Given the description of an element on the screen output the (x, y) to click on. 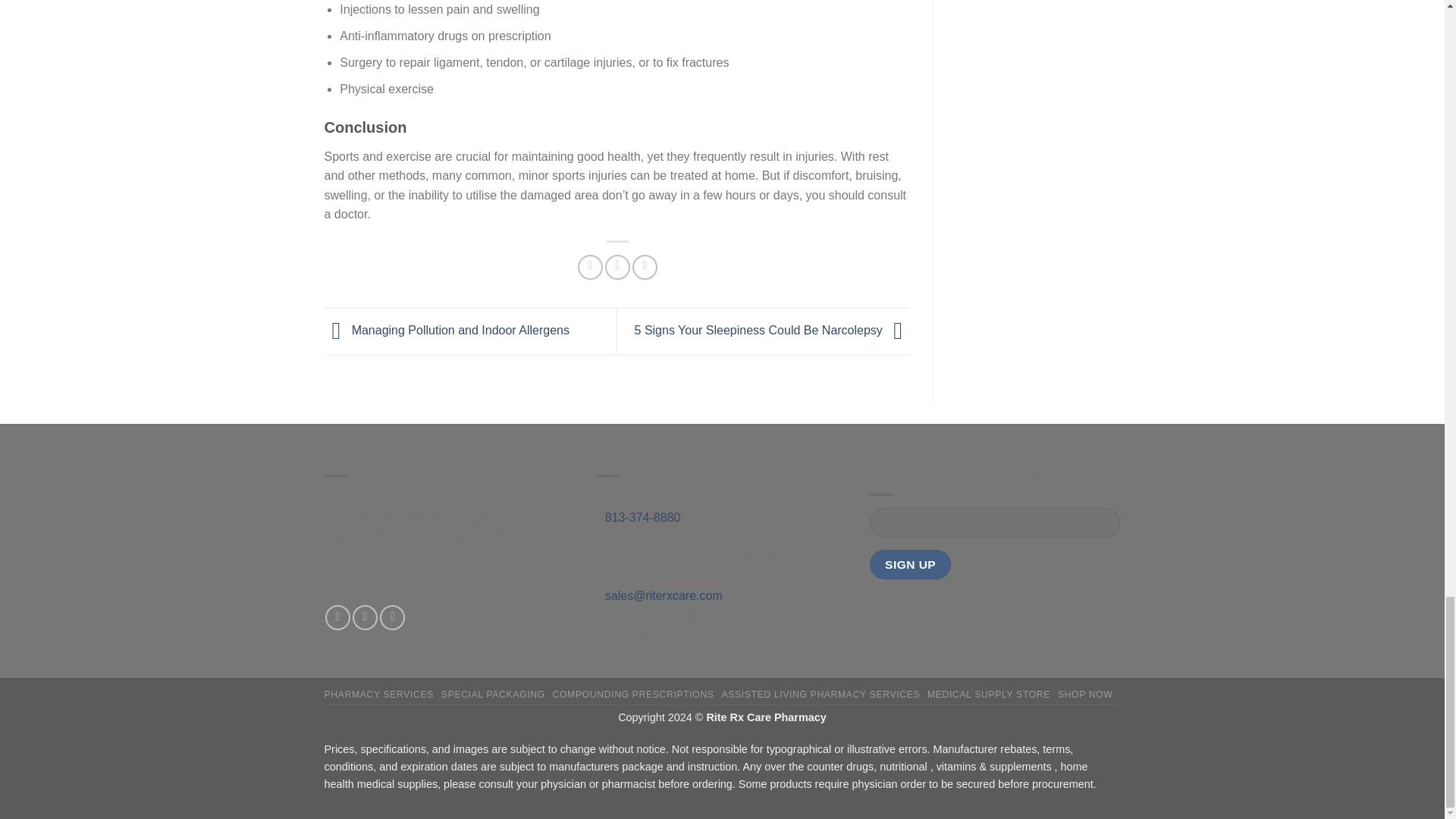
Email to a Friend (644, 267)
Share on Facebook (590, 267)
Follow on Twitter (364, 617)
Sign Up (909, 564)
Send us an email (392, 617)
Share on Twitter (617, 267)
Follow on Facebook (337, 617)
